Given the description of an element on the screen output the (x, y) to click on. 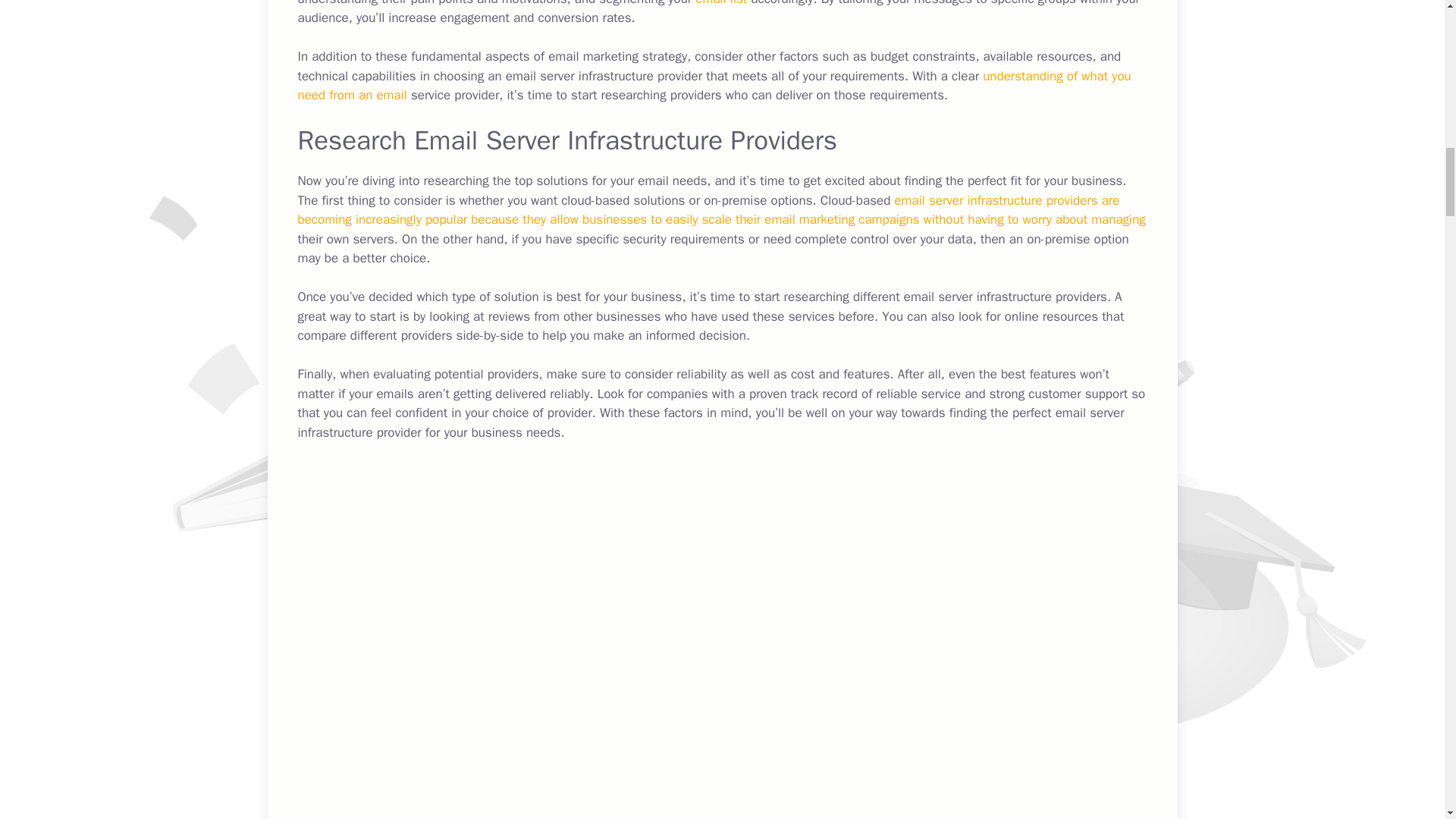
understanding of what you need from an email (714, 85)
email list (720, 3)
